Given the description of an element on the screen output the (x, y) to click on. 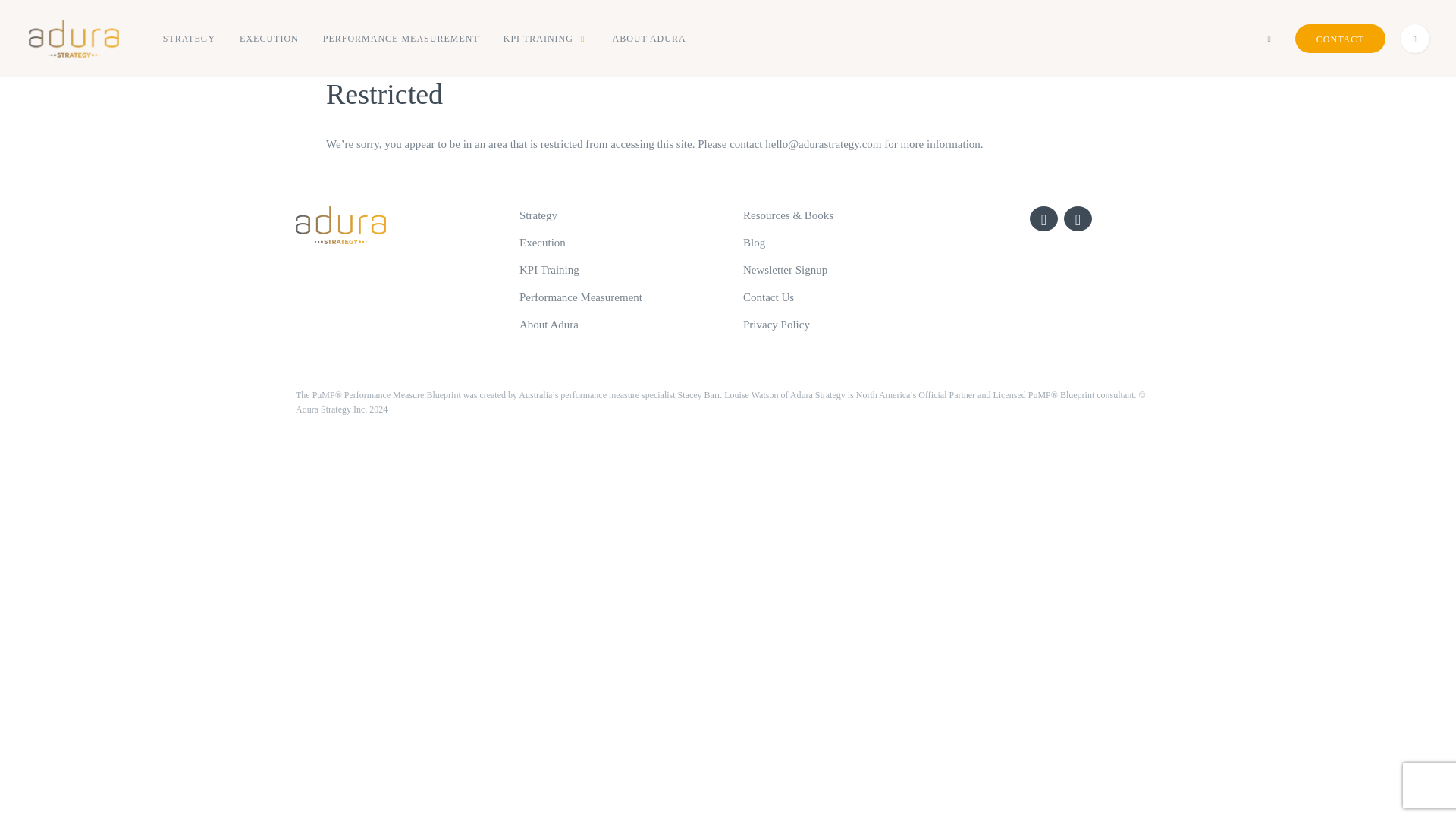
Privacy Policy (775, 324)
KPI TRAINING (545, 38)
Execution (542, 242)
CONTACT (1340, 38)
Newsletter Signup (784, 269)
Adura Strategy (77, 38)
PERFORMANCE MEASUREMENT (401, 38)
Blog (753, 242)
EXECUTION (269, 38)
Adura Strategy (74, 38)
